Given the description of an element on the screen output the (x, y) to click on. 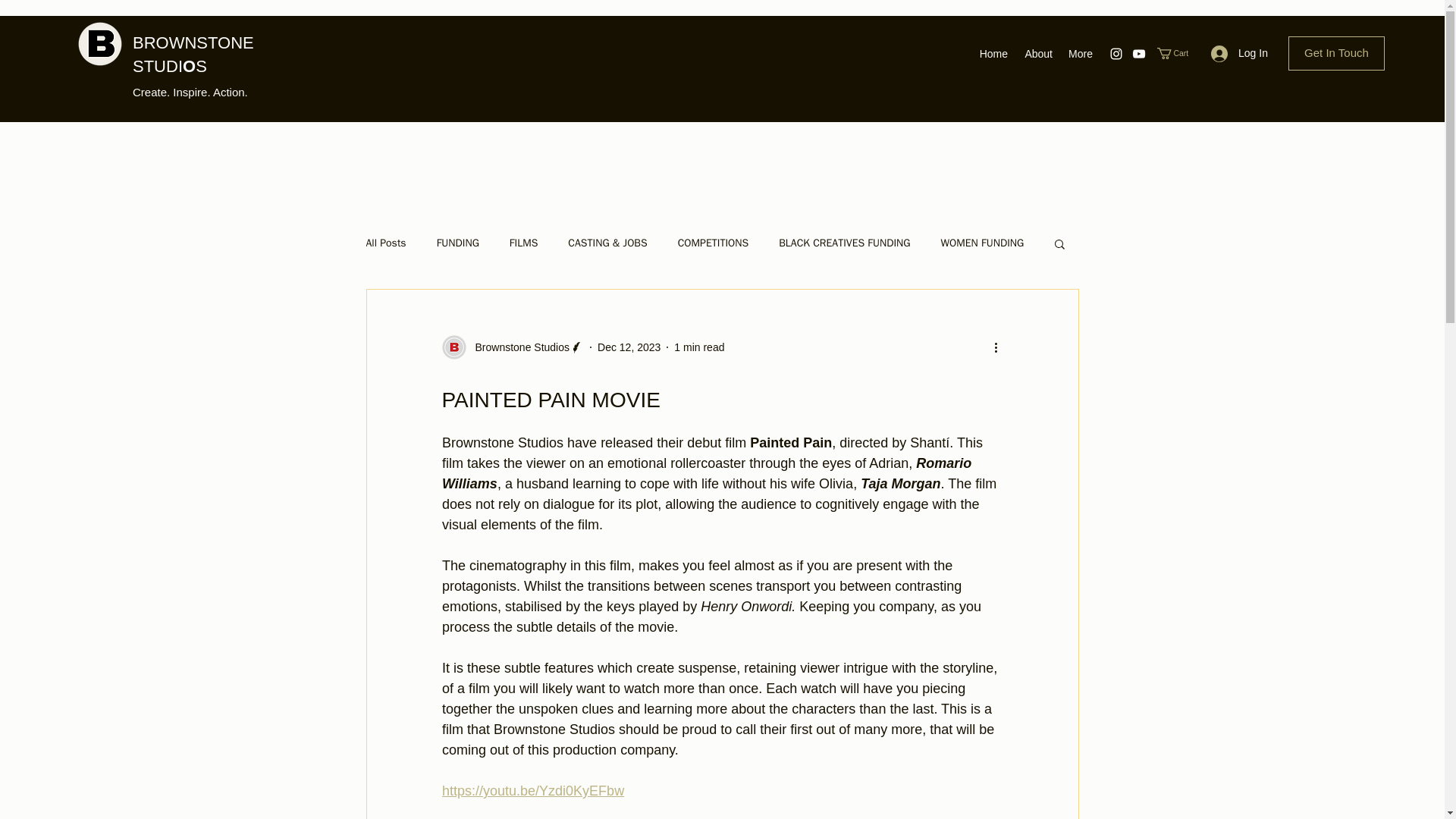
WOMEN FUNDING (982, 243)
FUNDING (457, 243)
Cart (1178, 52)
BROWNSTONE STUDIOS (192, 54)
Brownstone Studios (517, 347)
Dec 12, 2023 (628, 346)
About (1036, 53)
COMPETITIONS (713, 243)
Brownstone Studios (512, 346)
Cart (1178, 52)
